Given the description of an element on the screen output the (x, y) to click on. 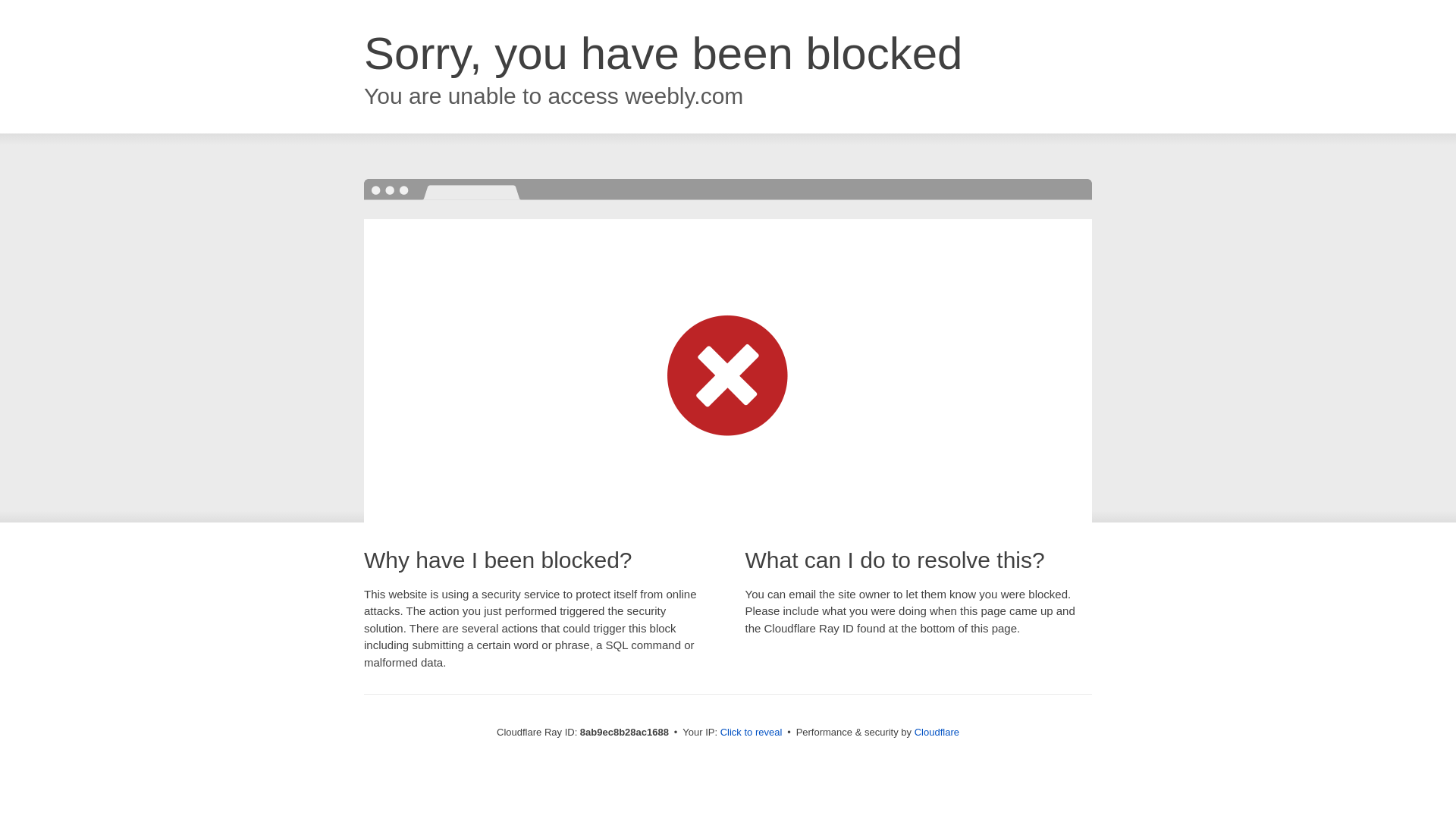
Click to reveal (751, 732)
Cloudflare (936, 731)
